Given the description of an element on the screen output the (x, y) to click on. 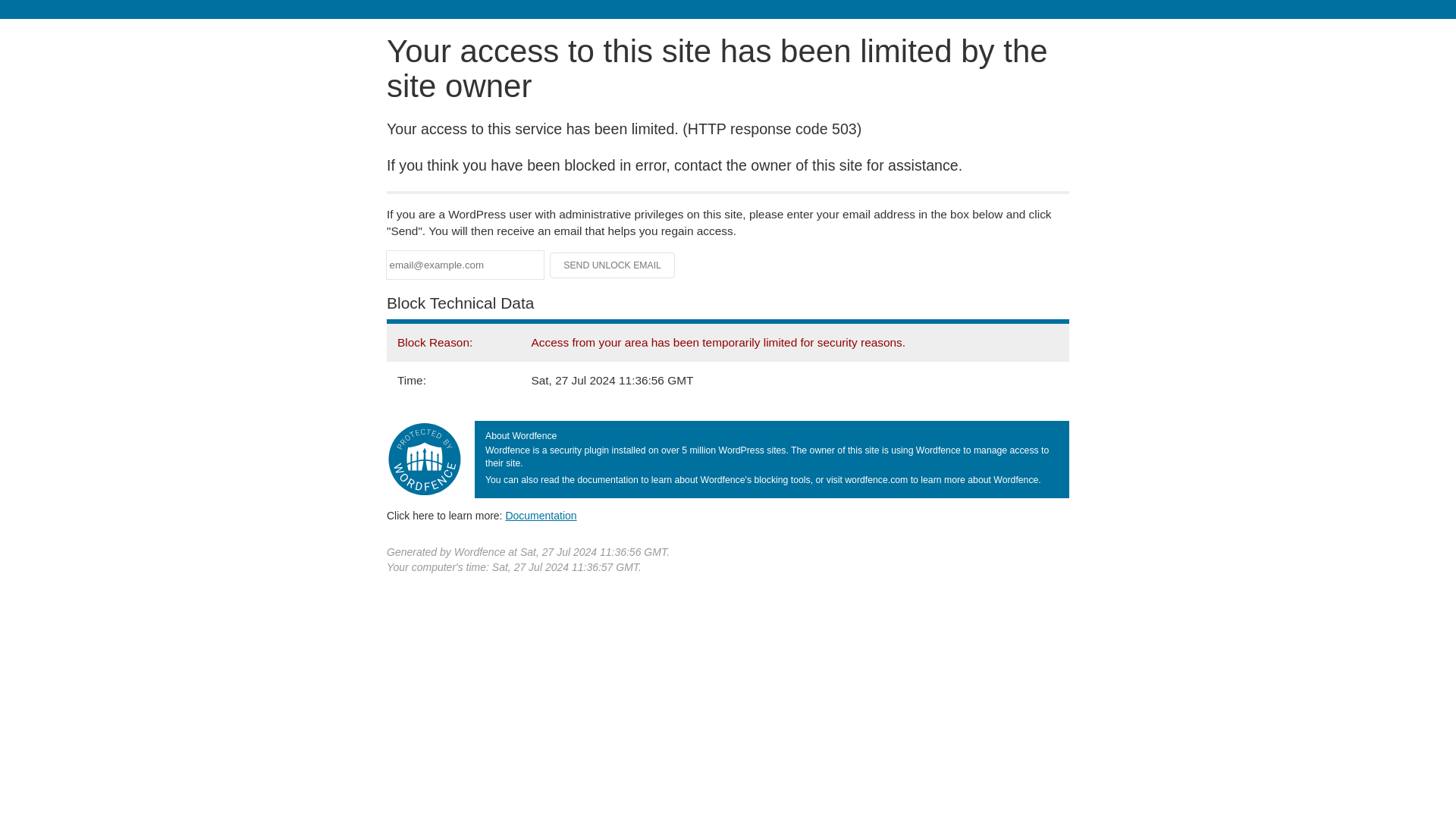
Send Unlock Email (612, 265)
Send Unlock Email (612, 265)
Documentation (540, 515)
